Given the description of an element on the screen output the (x, y) to click on. 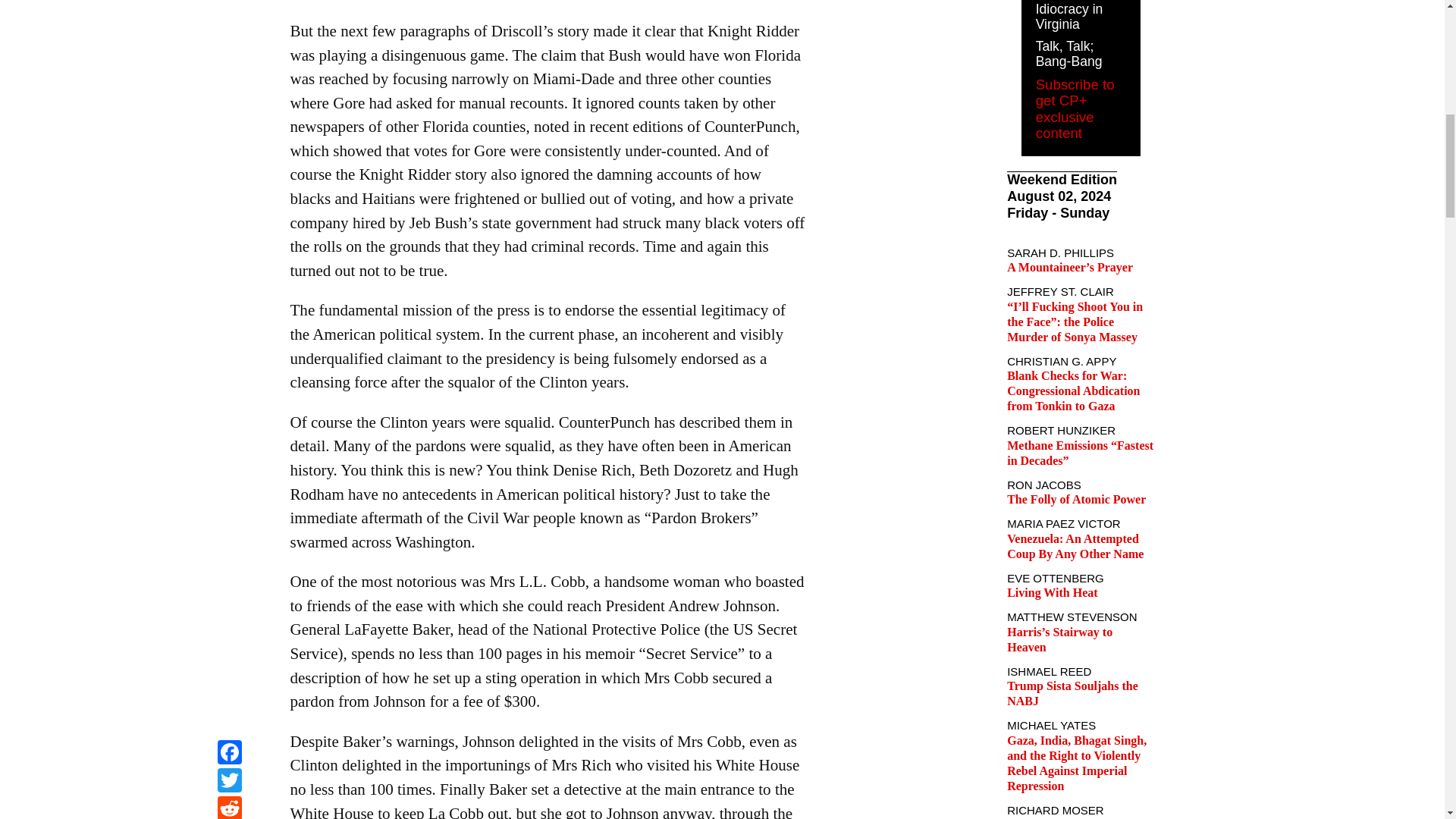
Reddit (229, 2)
Email (229, 18)
Idiocracy in Virginia (1069, 16)
Reddit (229, 2)
Email (229, 18)
Talk, Talk; Bang-Bang (1068, 53)
